Given the description of an element on the screen output the (x, y) to click on. 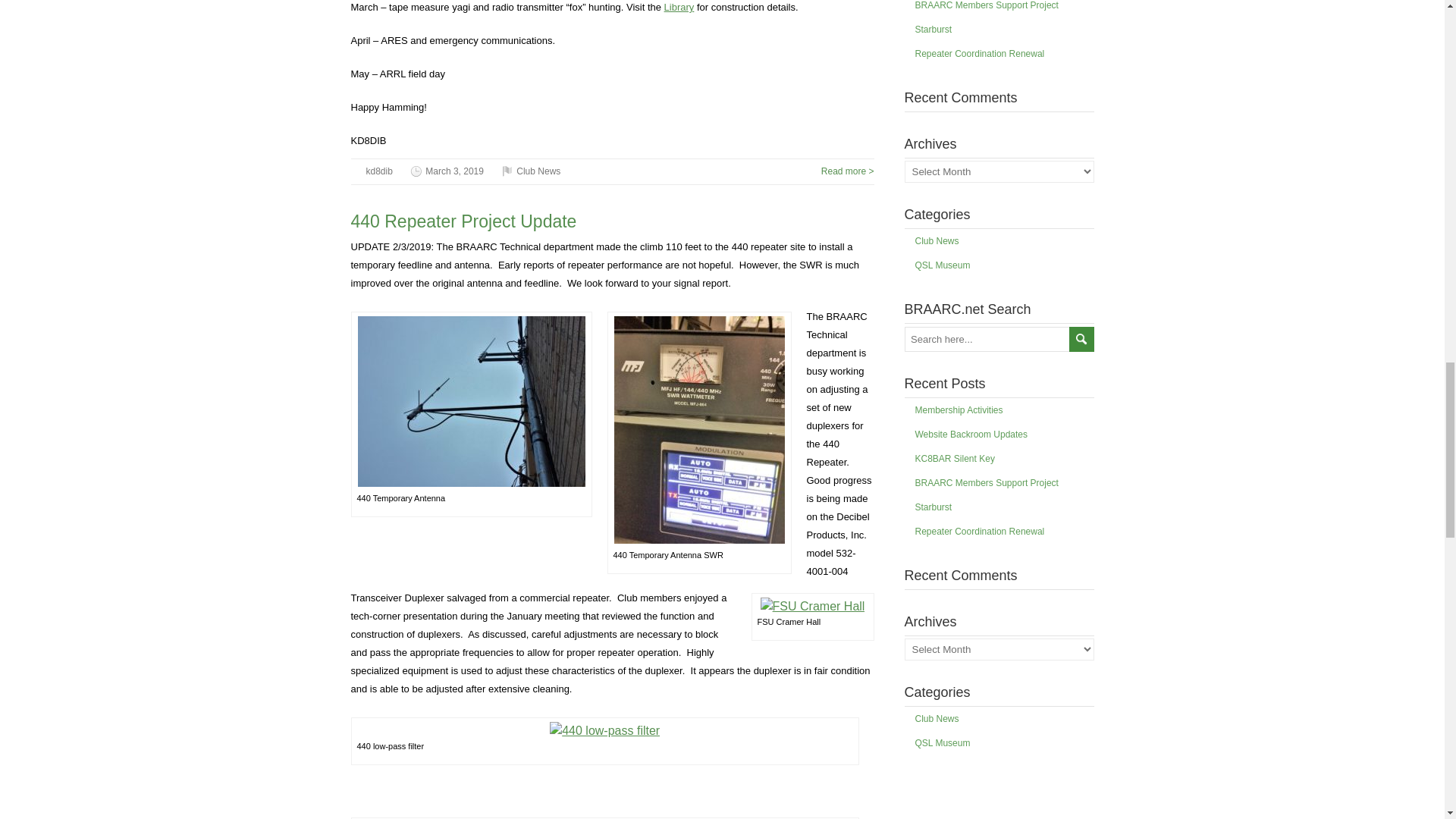
March 3, 2019 (454, 171)
Library (678, 7)
Posts by kd8dib (378, 171)
Club News (538, 171)
440 Repeater Project Update (463, 220)
kd8dib (378, 171)
